Given the description of an element on the screen output the (x, y) to click on. 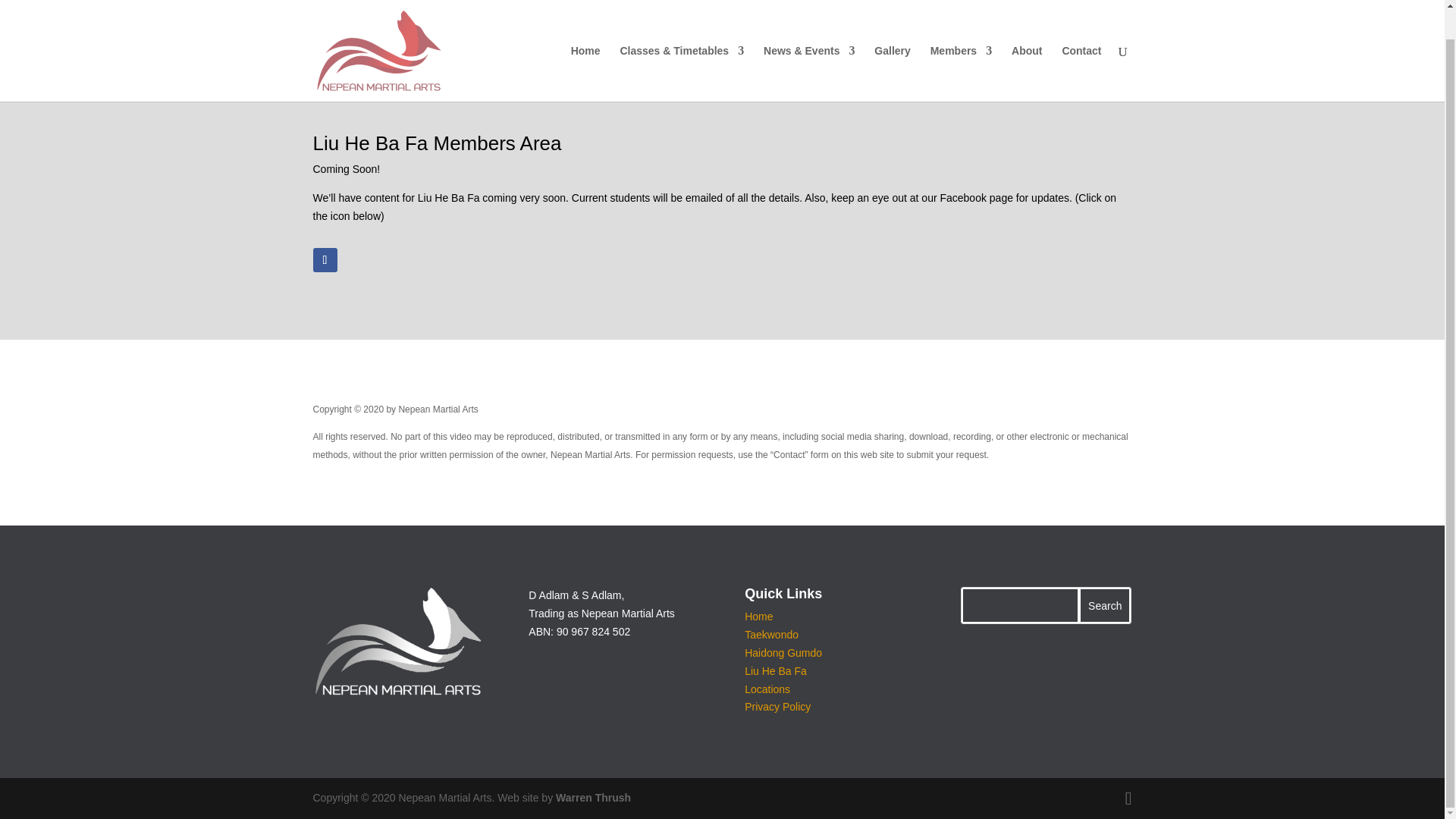
Search (1104, 605)
Follow on Facebook (324, 259)
Taekwondo (770, 634)
Search (1104, 605)
Home (758, 616)
Haidong Gumdo (783, 653)
Members (960, 43)
